Given the description of an element on the screen output the (x, y) to click on. 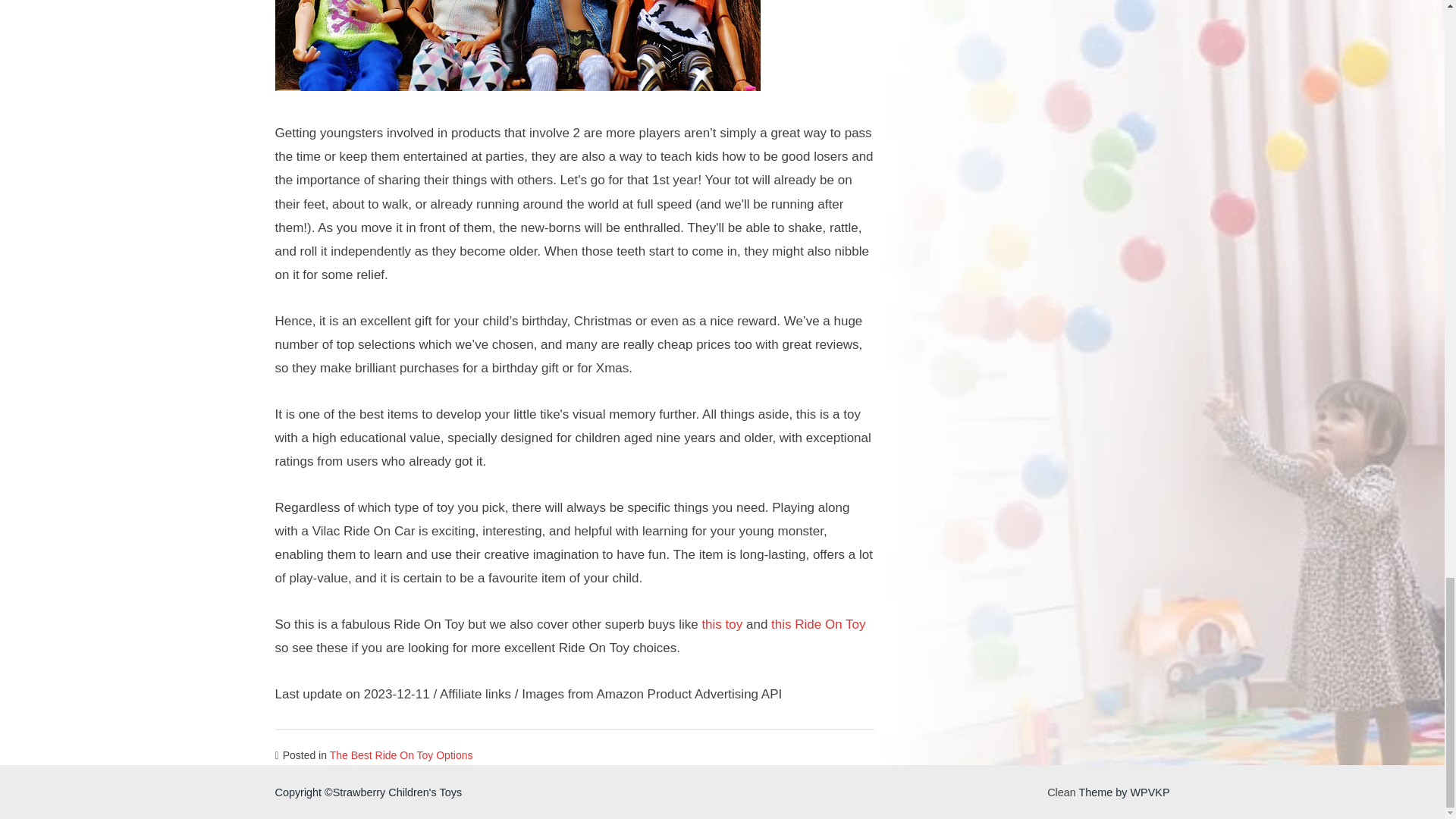
Toy Boy 6 Year Old (517, 45)
Clean (1060, 792)
The Best Ride On Toy Options (401, 755)
this Ride On Toy (817, 624)
this toy (721, 624)
